Given the description of an element on the screen output the (x, y) to click on. 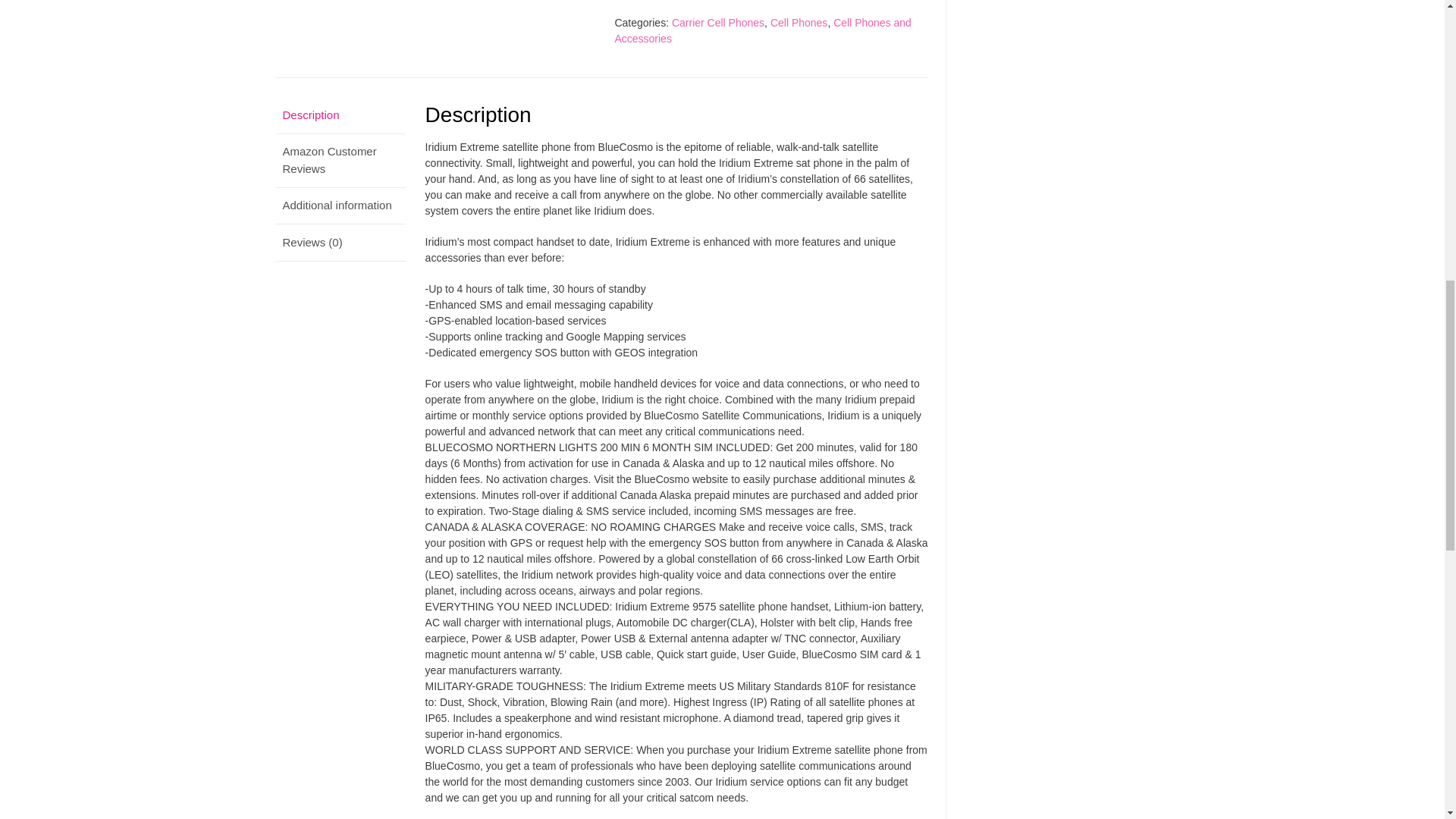
Carrier Cell Phones (717, 22)
Cell Phones and Accessories (762, 30)
Cell Phones (799, 22)
